Given the description of an element on the screen output the (x, y) to click on. 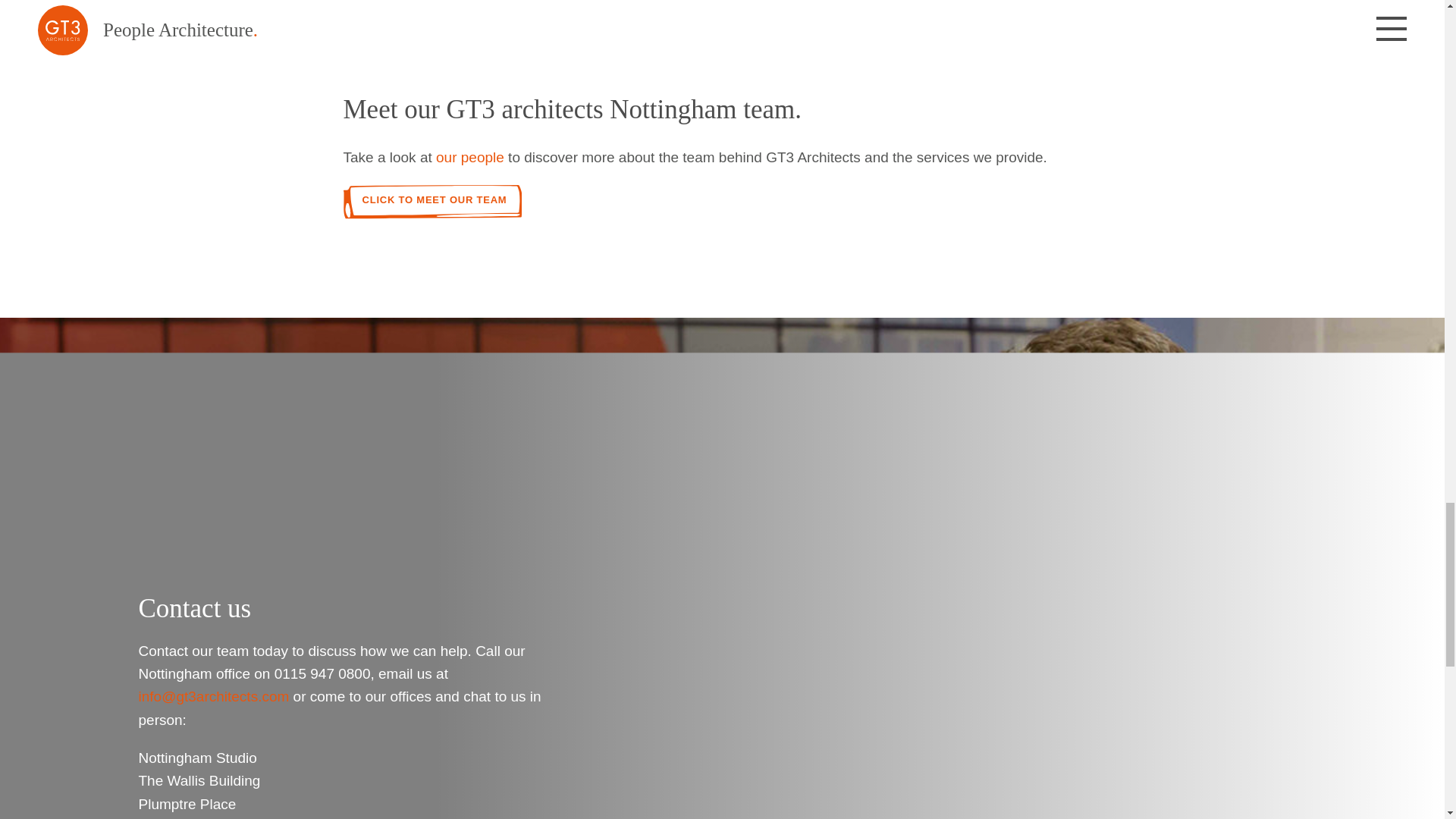
our people (469, 157)
Meet our GT3 architects Nottingham team. (572, 109)
CLICK TO MEET OUR TEAM (431, 202)
